Given the description of an element on the screen output the (x, y) to click on. 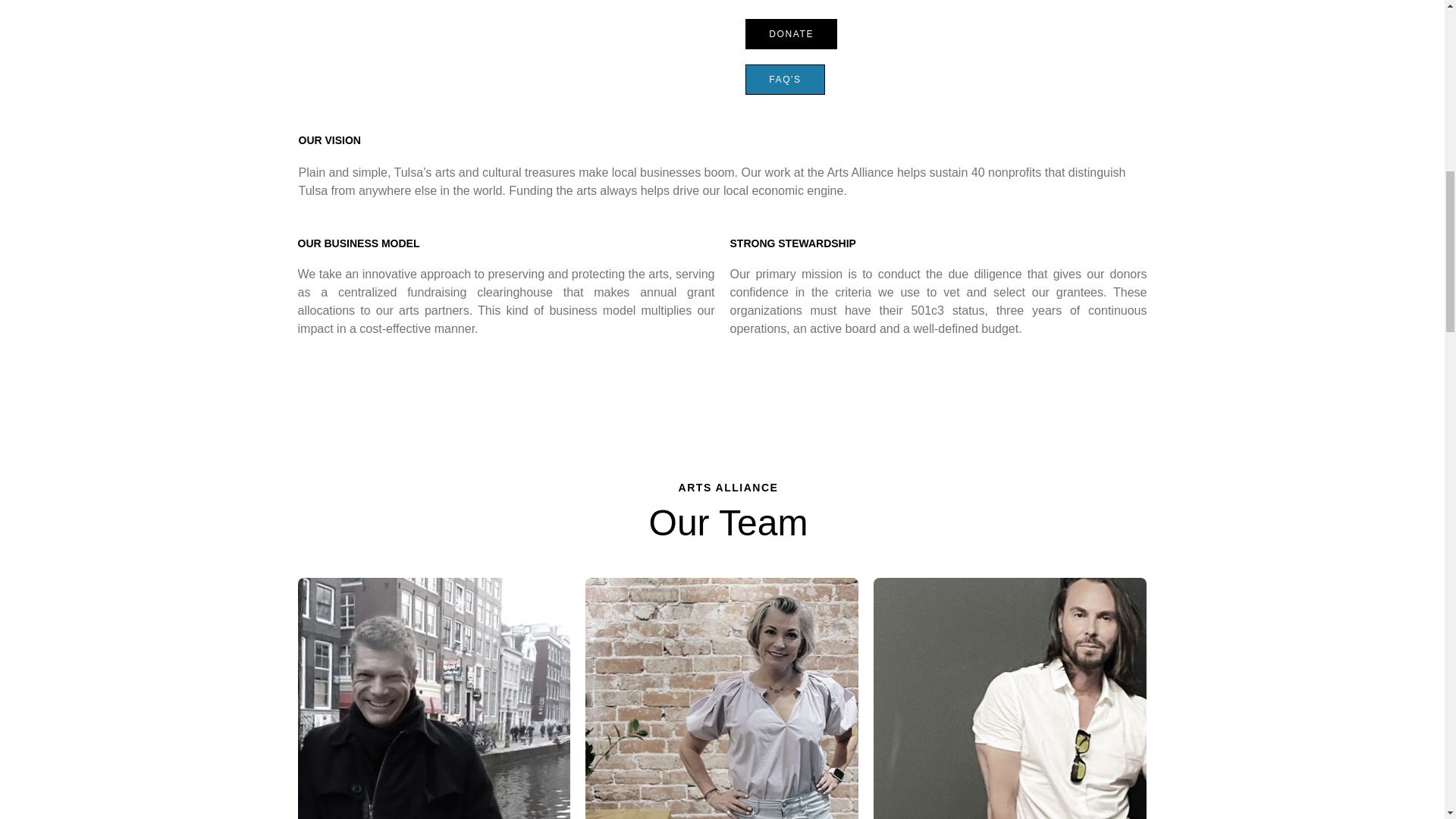
todd (433, 698)
Page 1 (505, 301)
chad (1010, 698)
Page 1 (938, 301)
alicia (722, 698)
Page 1 (726, 165)
